Given the description of an element on the screen output the (x, y) to click on. 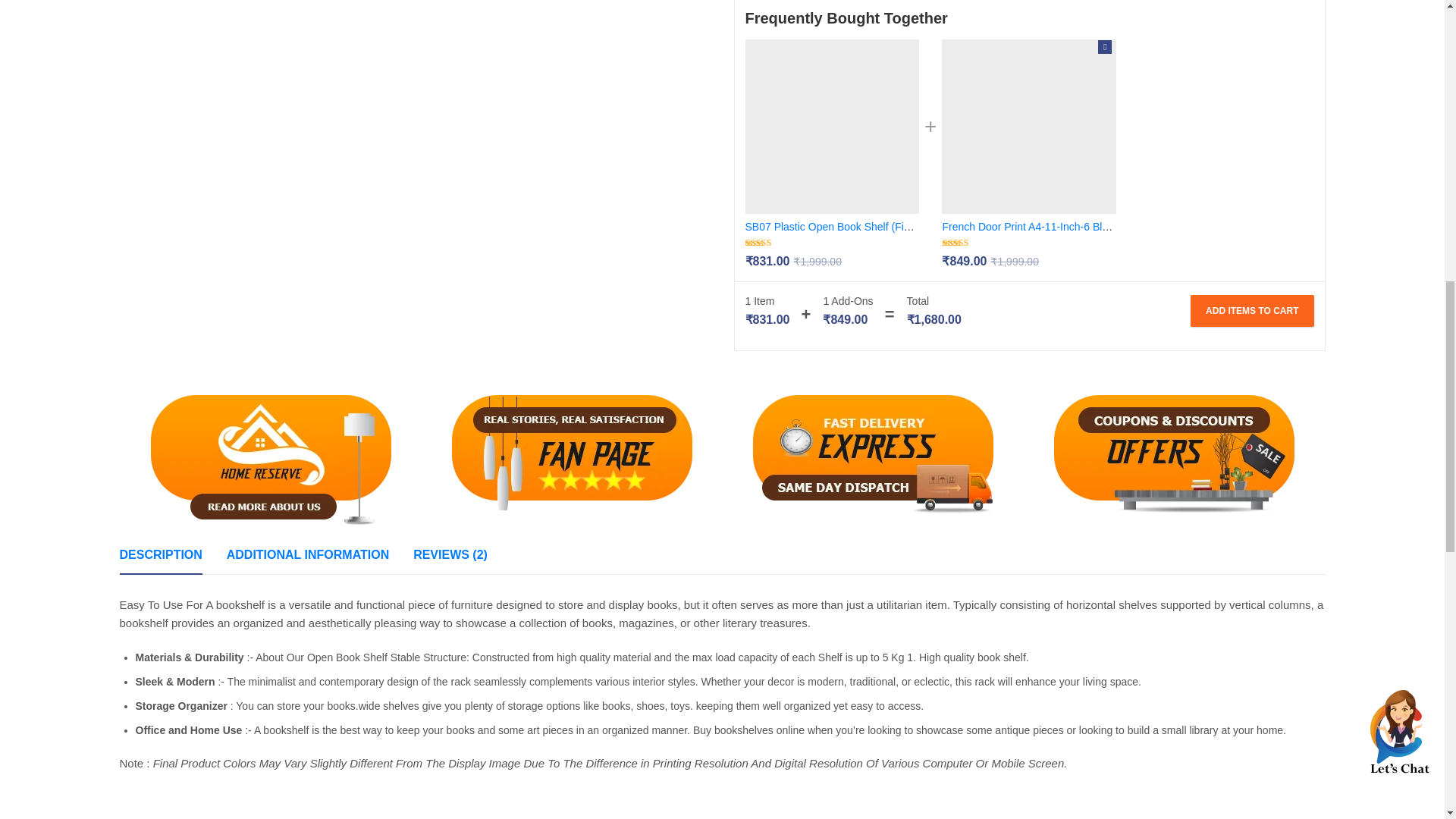
on (1104, 47)
